Given the description of an element on the screen output the (x, y) to click on. 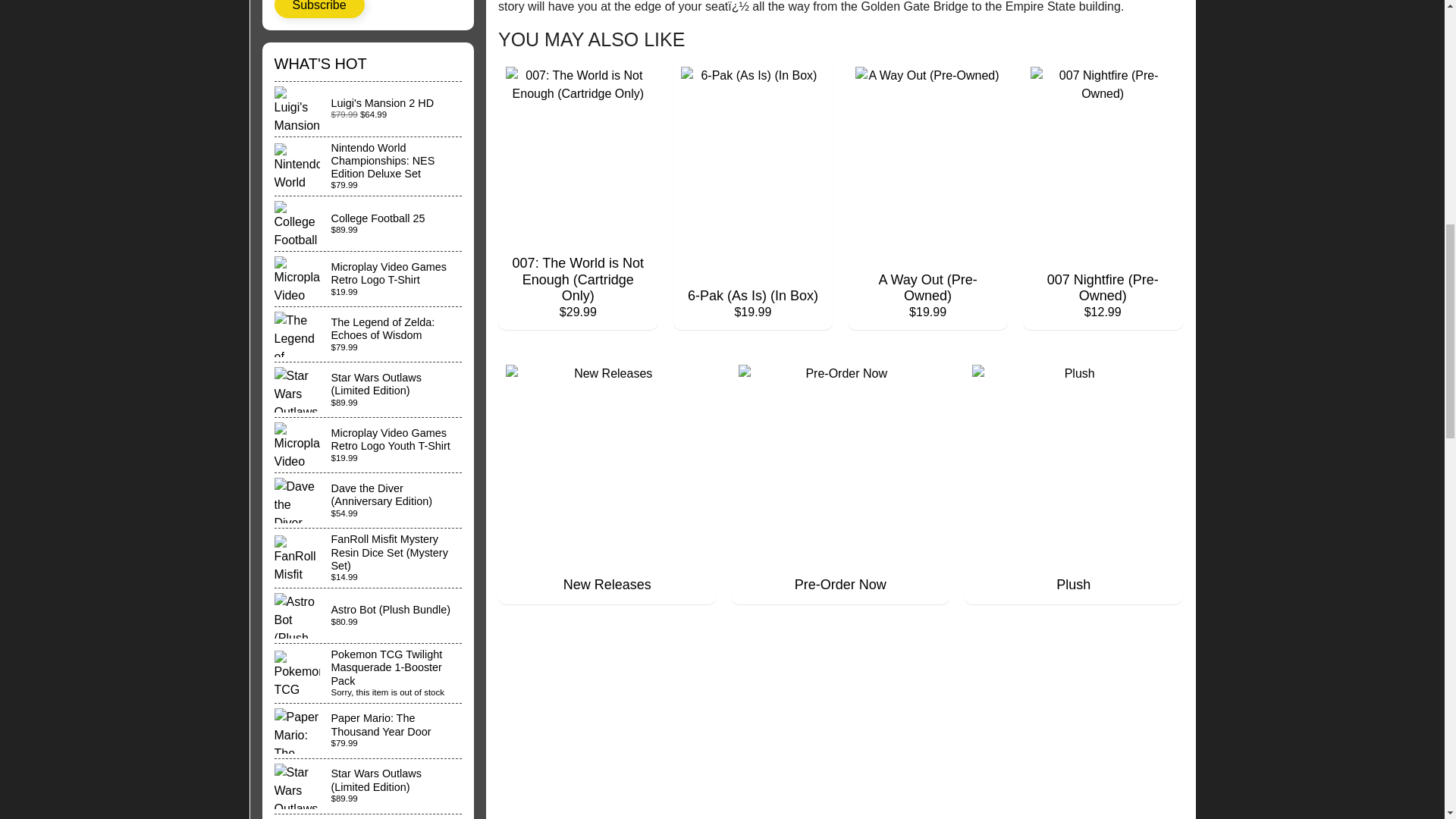
Luigi's Mansion 2 HD (369, 108)
The Legend of Zelda: Echoes of Wisdom (369, 334)
Paper Mario: The Thousand Year Door (369, 730)
Nintendo World Championships: NES Edition Deluxe Set (369, 166)
Microplay Video Games Retro Logo T-Shirt (369, 278)
Microplay Video Games Retro Logo Youth T-Shirt (369, 444)
College Football 25 (369, 223)
Pokemon TCG Twilight Masquerade 1-Booster Pack (369, 672)
